Given the description of an element on the screen output the (x, y) to click on. 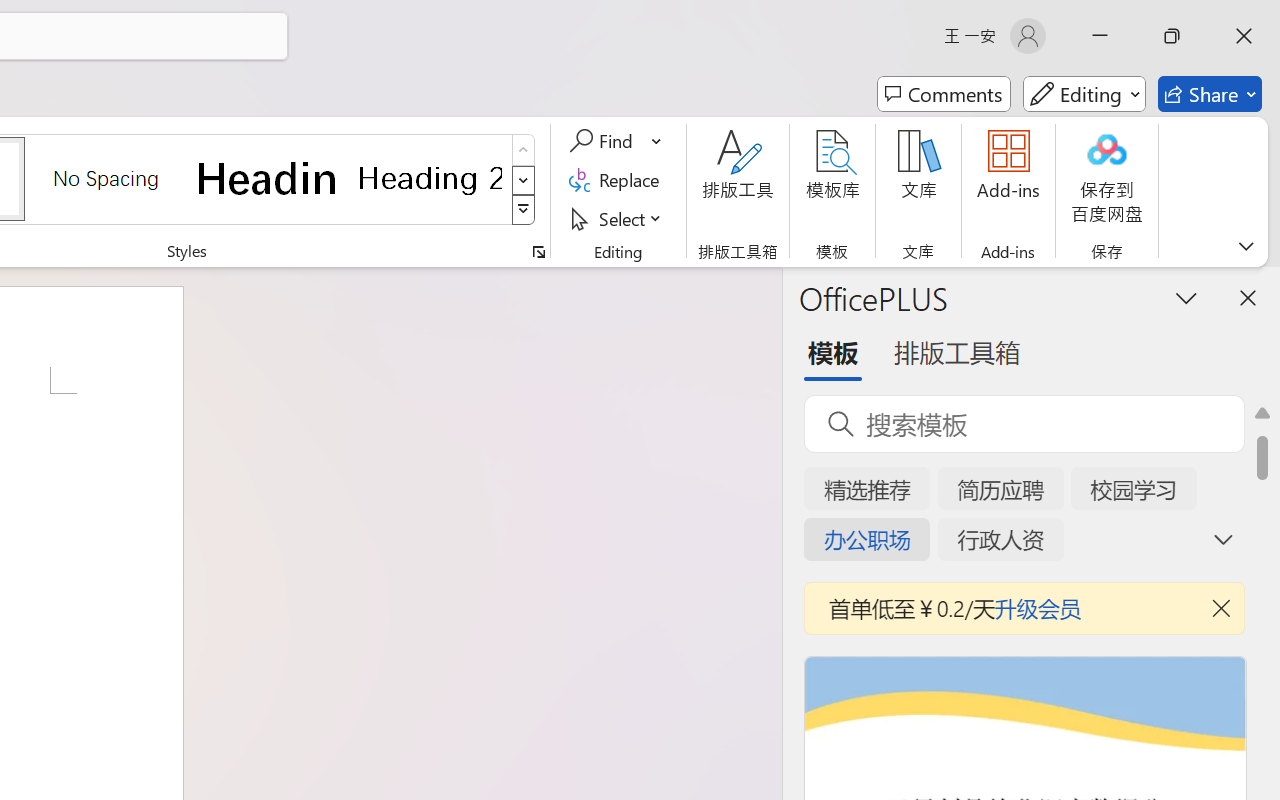
Task Pane Options (1186, 297)
Comments (943, 94)
Heading 1 (267, 178)
Row up (523, 150)
Class: NetUIImage (523, 210)
Styles... (538, 252)
